Given the description of an element on the screen output the (x, y) to click on. 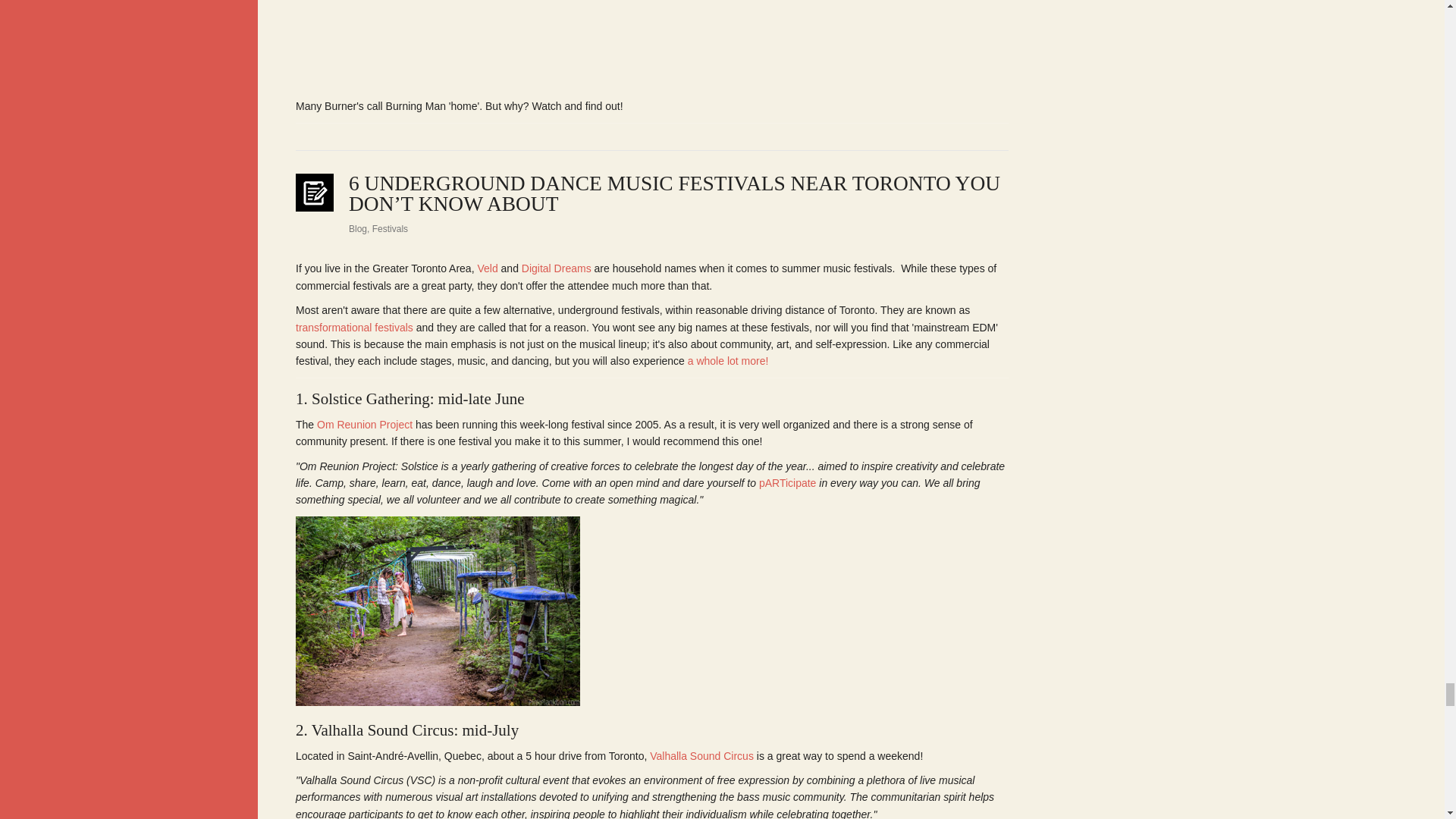
Solstice Festival (370, 398)
OM Reunion Project (364, 424)
Music Festival vs. Transformational Festival (354, 327)
Digital Dreams (556, 268)
Veld Music Festival (487, 268)
